Given the description of an element on the screen output the (x, y) to click on. 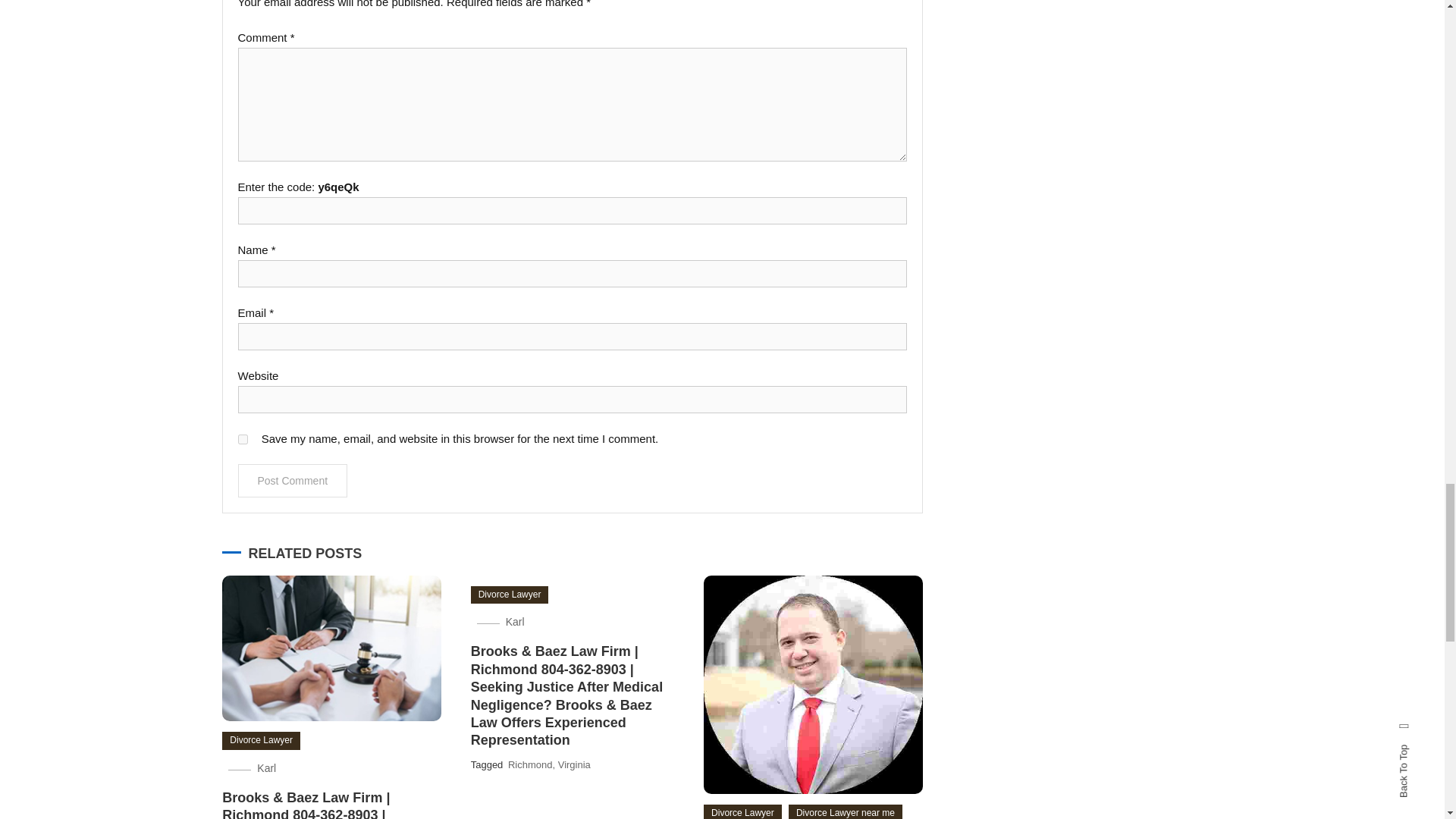
yes (242, 439)
Post Comment (292, 480)
